Given the description of an element on the screen output the (x, y) to click on. 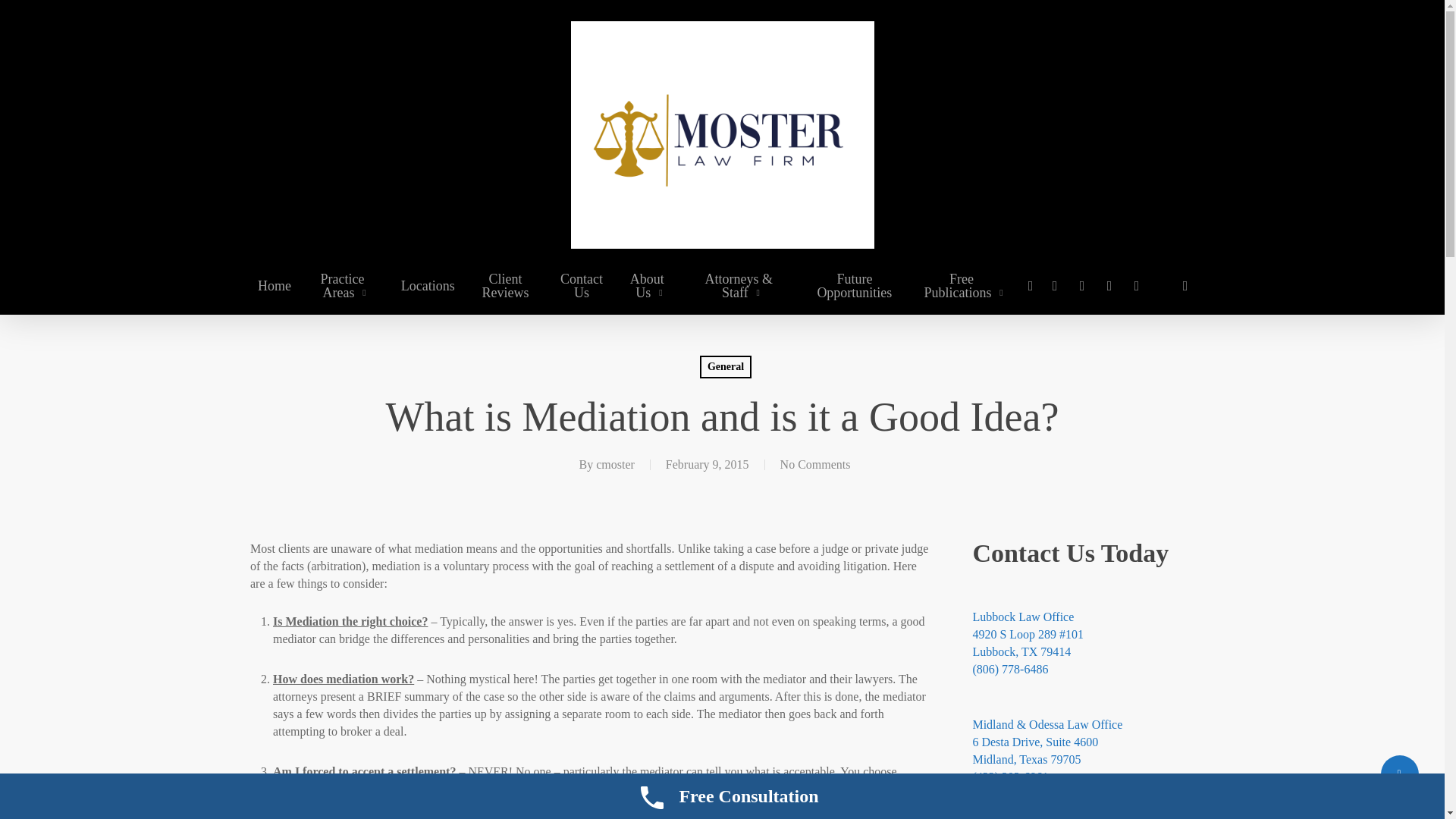
Posts by cmoster (614, 463)
Practice Areas (345, 285)
Home (274, 285)
